Given the description of an element on the screen output the (x, y) to click on. 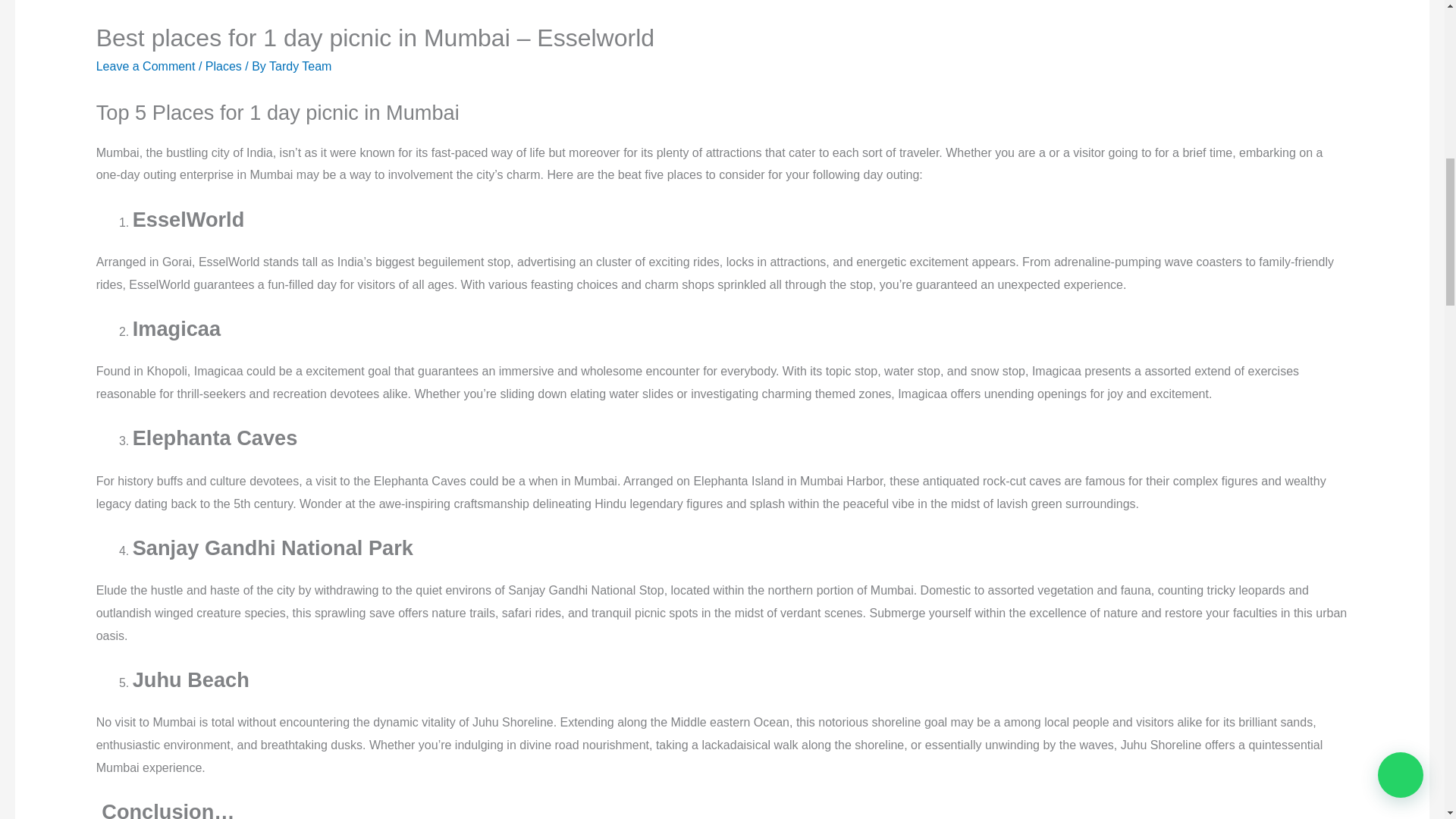
View all posts by Tardy Team (300, 65)
Tardy Team (300, 65)
Leave a Comment (145, 65)
Places (223, 65)
